Given the description of an element on the screen output the (x, y) to click on. 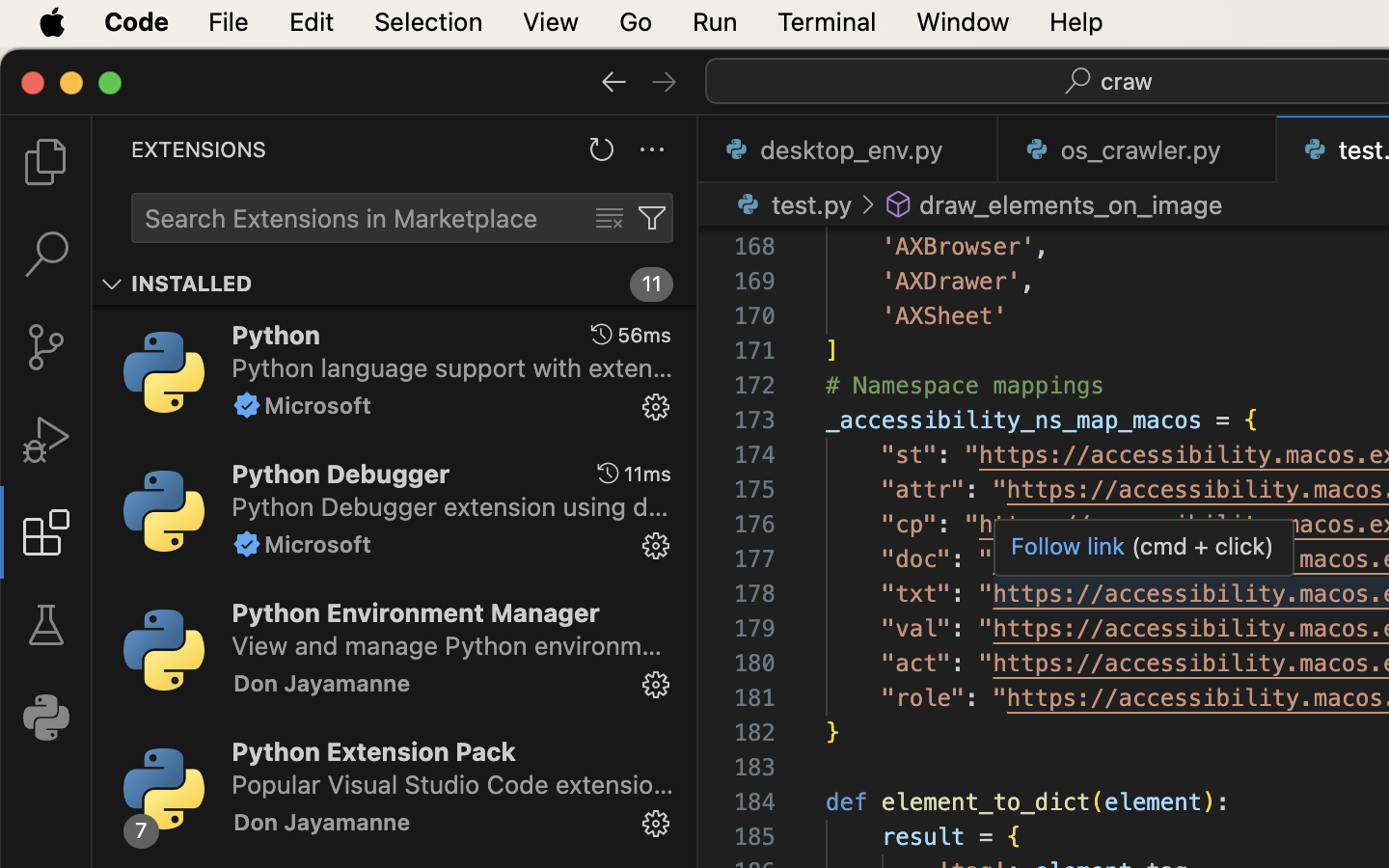
Search Extensions in Marketplace Element type: AXStaticText (341, 218)
 Element type: AXButton (655, 406)
0  Element type: AXRadioButton (46, 346)
 Element type: AXStaticText (898, 204)
1  Element type: AXRadioButton (46, 532)
